Given the description of an element on the screen output the (x, y) to click on. 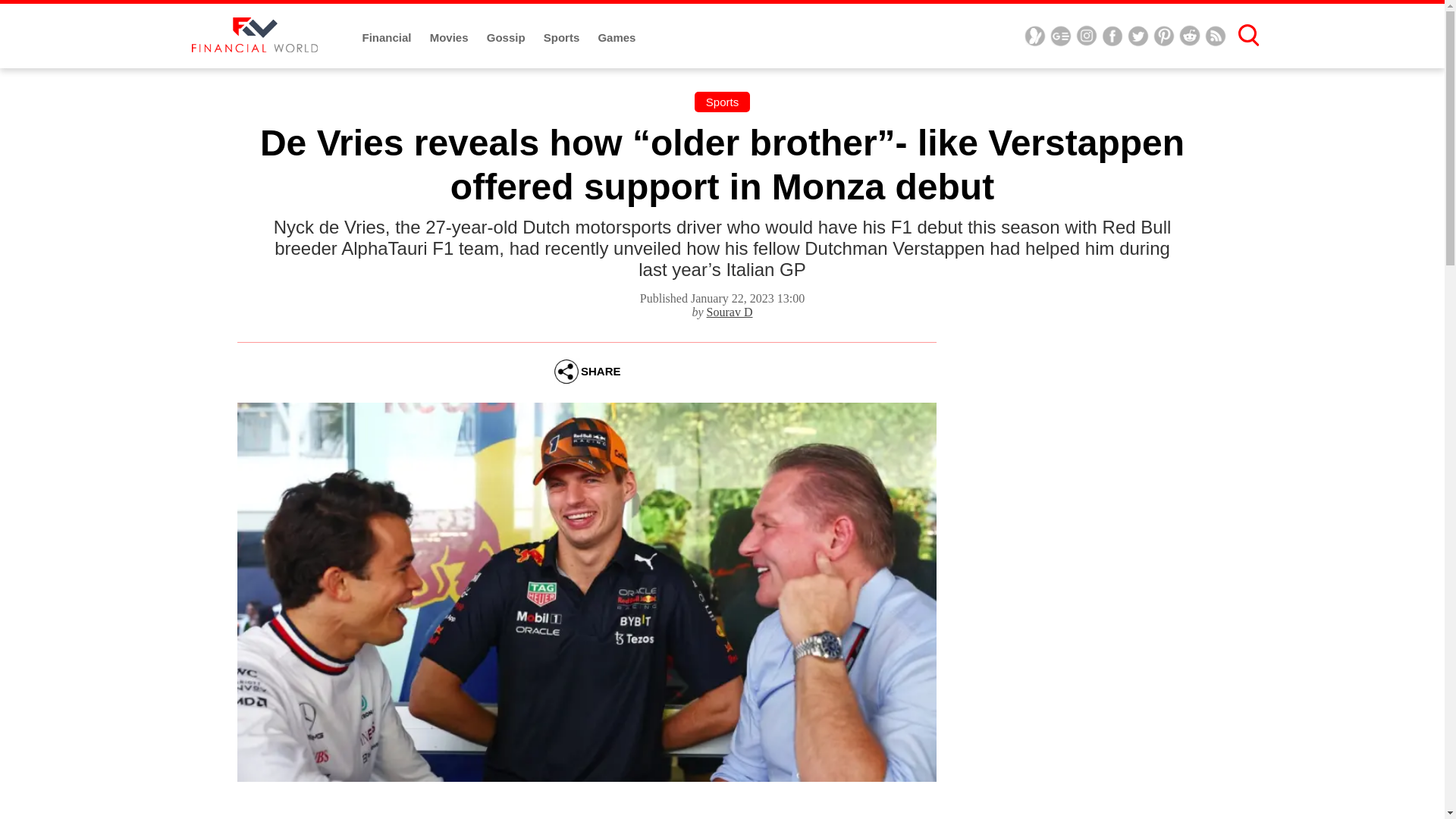
Sports (563, 37)
Sourav D (729, 311)
Games (615, 37)
Movies (450, 37)
Sports (722, 101)
Financial (388, 37)
Gossip (507, 37)
